Given the description of an element on the screen output the (x, y) to click on. 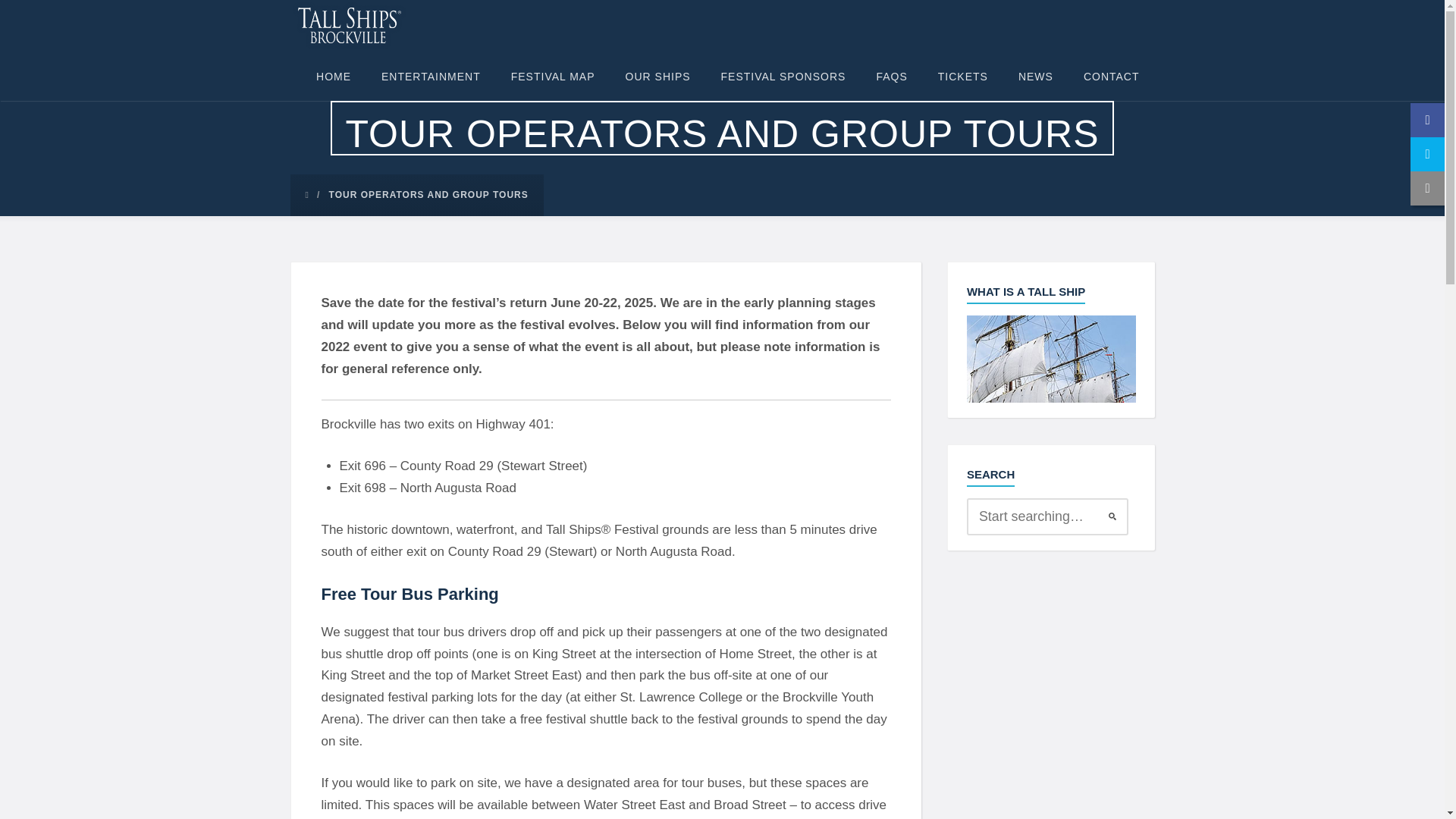
Tall Ships Brockville (349, 24)
OUR SHIPS (658, 75)
FESTIVAL MAP (553, 75)
HOME (333, 75)
CONTACT (1111, 75)
ENTERTAINMENT (431, 75)
FESTIVAL SPONSORS (783, 75)
FAQS (890, 75)
TICKETS (963, 75)
NEWS (1035, 75)
